Given the description of an element on the screen output the (x, y) to click on. 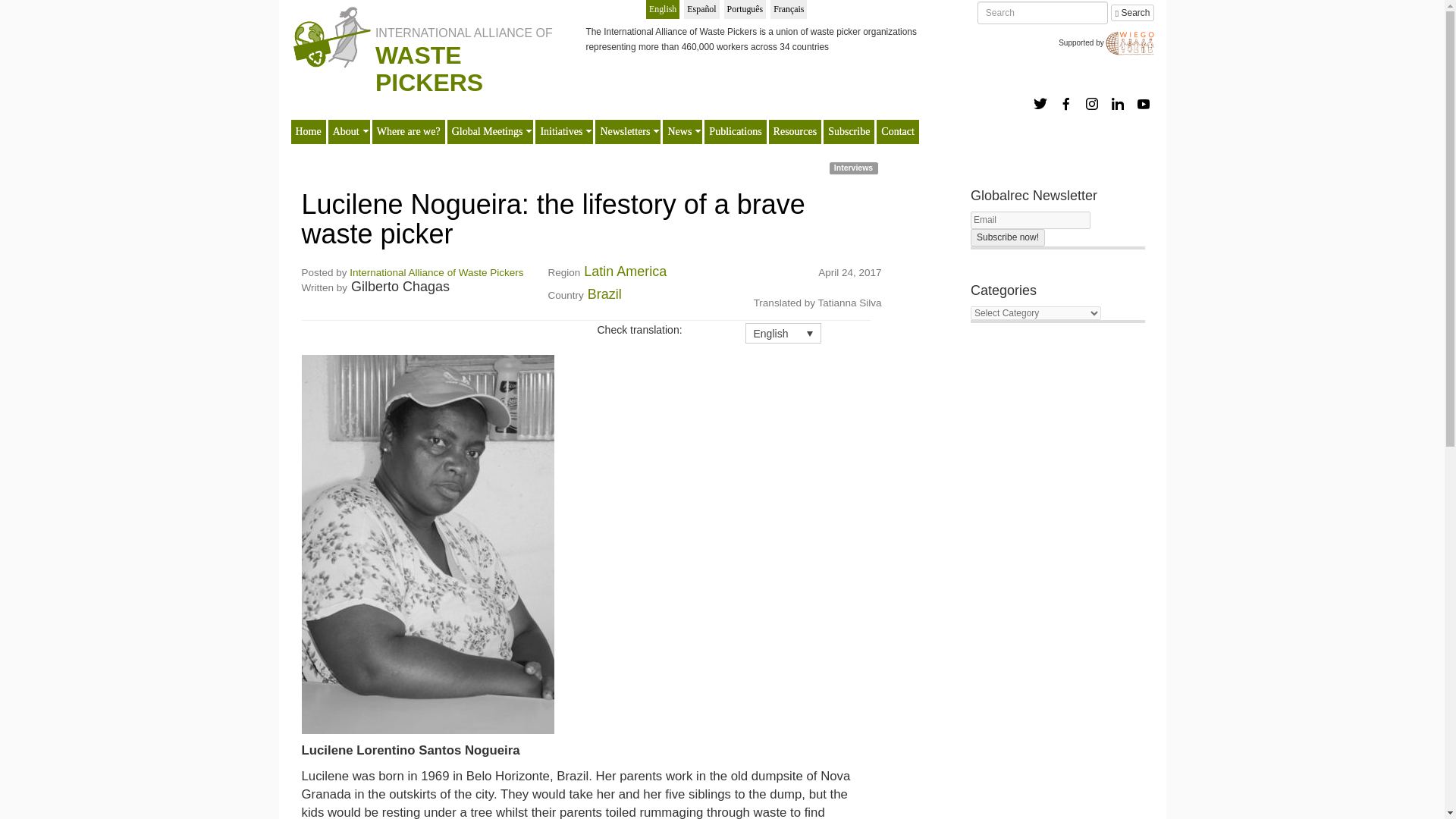
Newsletters (624, 104)
Where are we? (408, 104)
WIEGO (1125, 37)
English (662, 9)
Search (1132, 12)
Twitter International Alliance of Waste Pickers (1040, 75)
About (345, 104)
News (679, 104)
LinkedIn International Alliance of Waste Pickers (1117, 75)
WIEGO (1125, 37)
Initiatives (560, 104)
Subscribe now! (1008, 210)
Home (418, 10)
Home (307, 104)
Posts by International Alliance of Waste Pickers (435, 244)
